Given the description of an element on the screen output the (x, y) to click on. 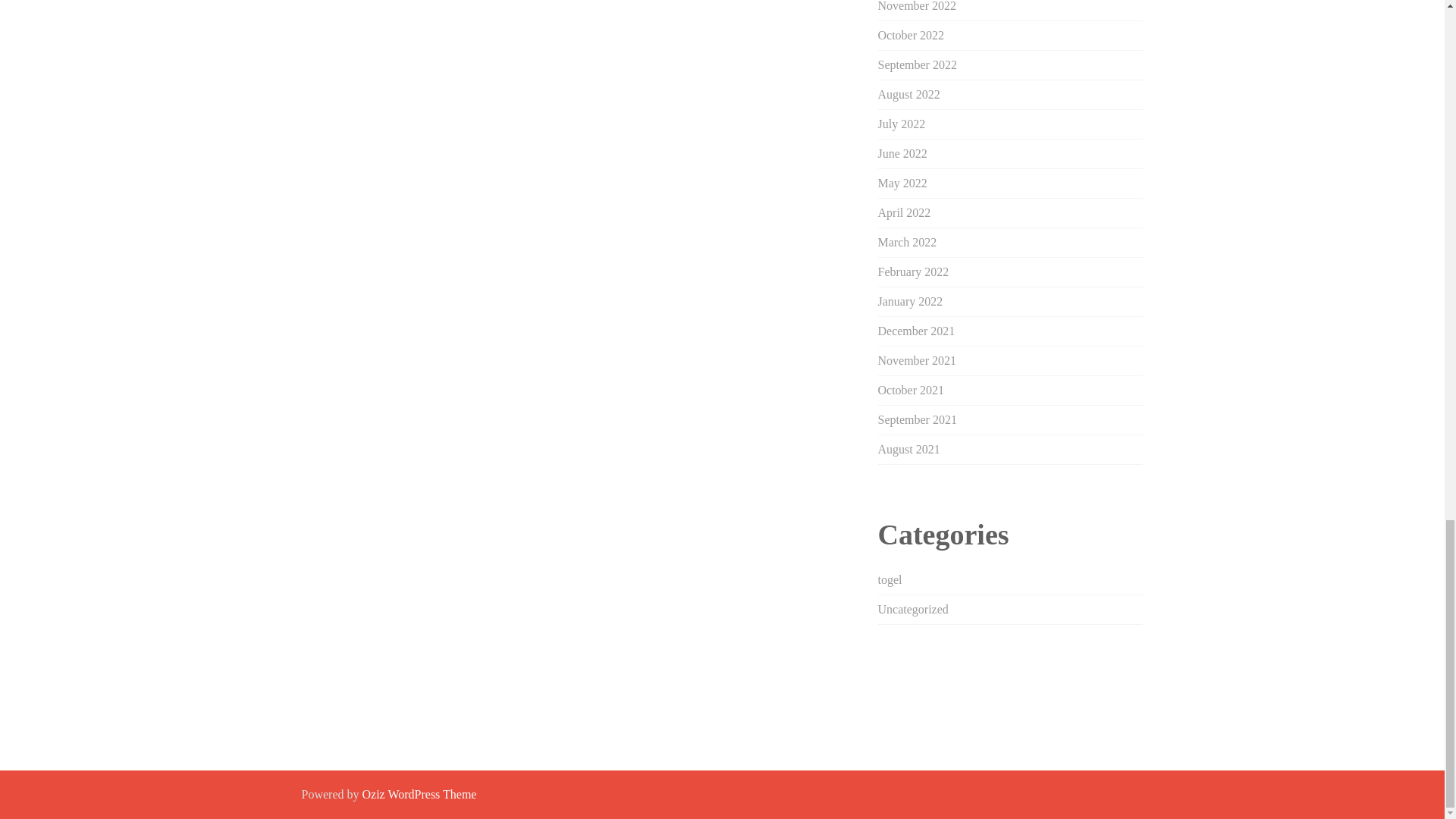
September 2022 (916, 64)
October 2022 (910, 34)
November 2022 (916, 6)
